Given the description of an element on the screen output the (x, y) to click on. 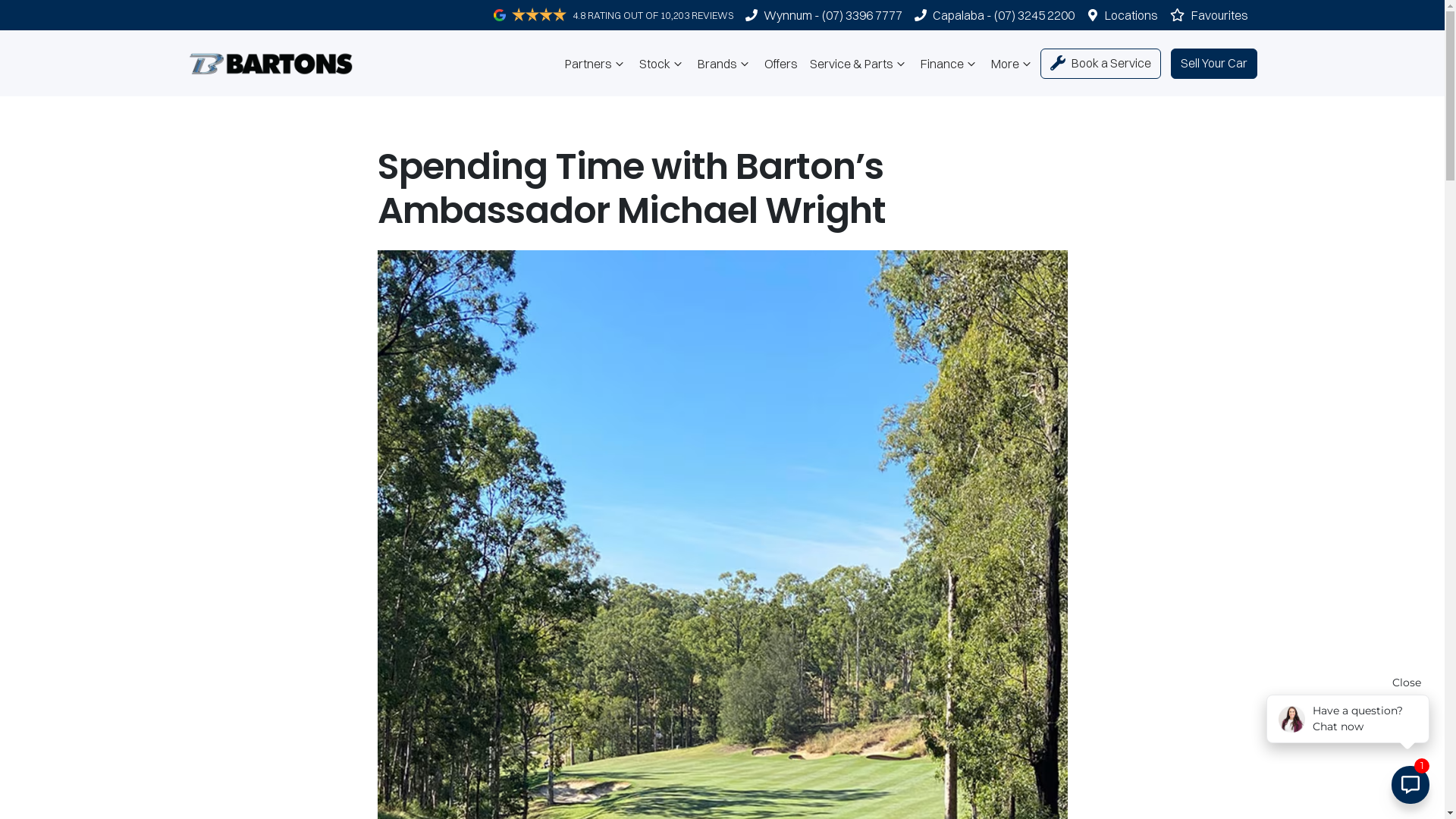
Book a Service Element type: text (1100, 63)
More Element type: text (1012, 63)
Sell Your Car Element type: text (1213, 63)
Offers Element type: text (780, 63)
Partners Element type: text (595, 63)
Brands Element type: text (724, 63)
Locations Element type: text (1130, 14)
Finance Element type: text (949, 63)
Stock Element type: text (662, 63)
Wynnum - (07) 3396 7777 Element type: text (832, 14)
Capalaba - (07) 3245 2200 Element type: text (1003, 14)
Service & Parts Element type: text (858, 63)
Favourites Element type: text (1213, 15)
